Given the description of an element on the screen output the (x, y) to click on. 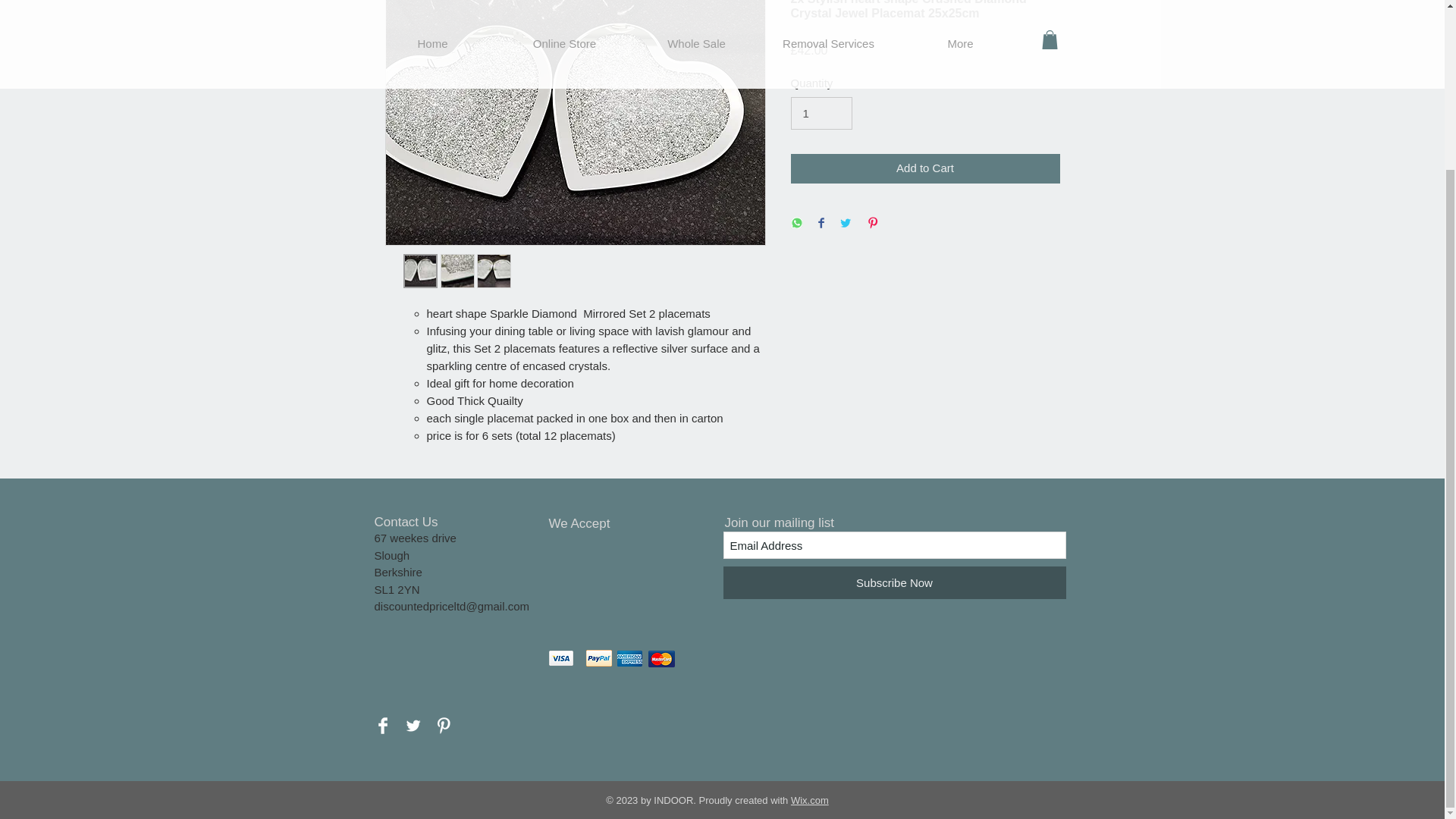
Wix.com (809, 799)
Subscribe Now (894, 582)
Add to Cart (924, 168)
1 (820, 113)
